Given the description of an element on the screen output the (x, y) to click on. 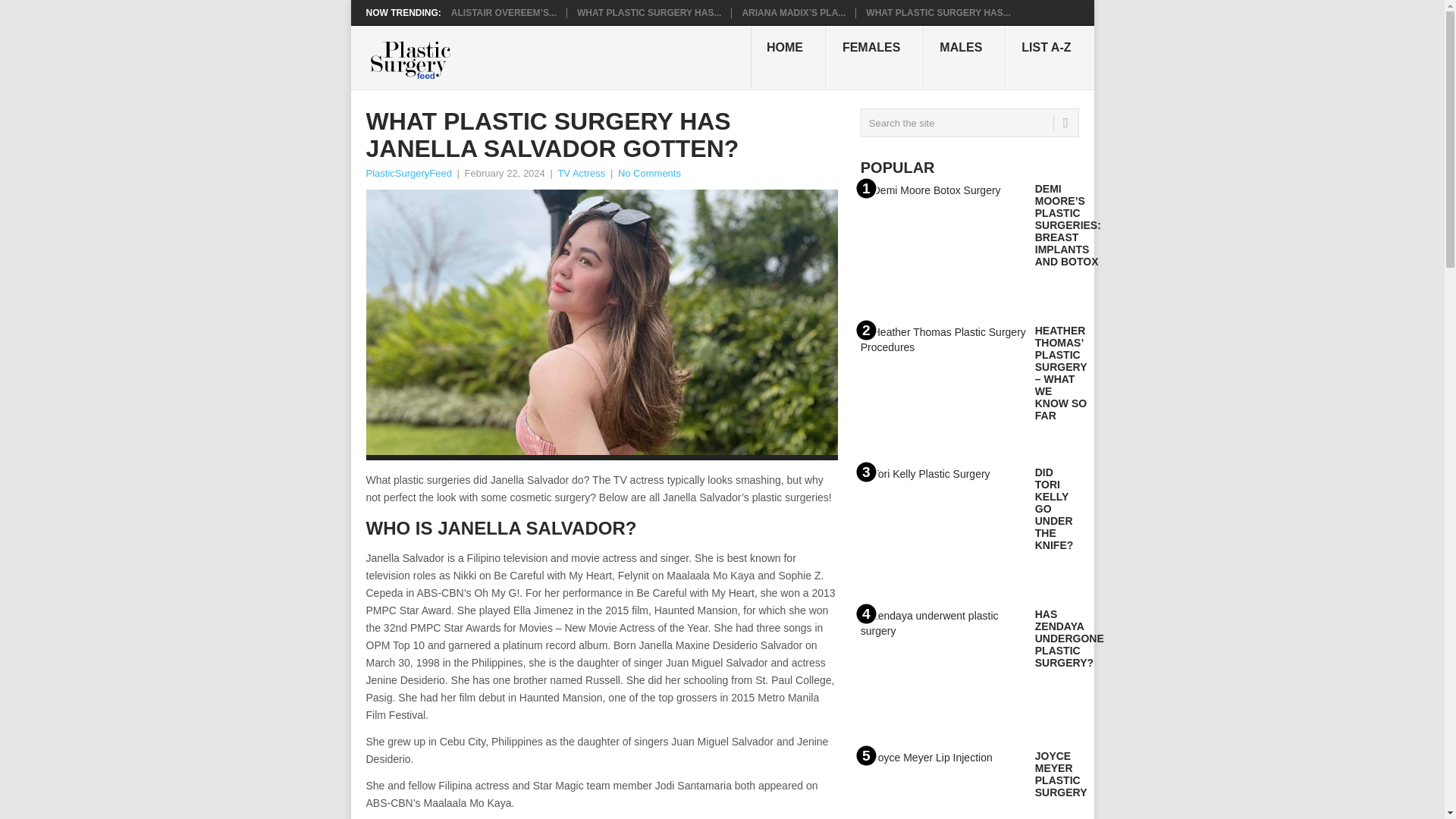
2 (943, 385)
What Plastic Surgery Has Genevieve Padalecki Gotten? (938, 12)
LIST A-Z (1049, 56)
TV Actress (581, 173)
No Comments (649, 173)
WHAT PLASTIC SURGERY HAS... (938, 12)
HOME (789, 56)
Posts by PlasticSurgeryFeed (408, 173)
4 (943, 669)
What Plastic Surgery Has Janella Salvador Gotten? (648, 12)
